Given the description of an element on the screen output the (x, y) to click on. 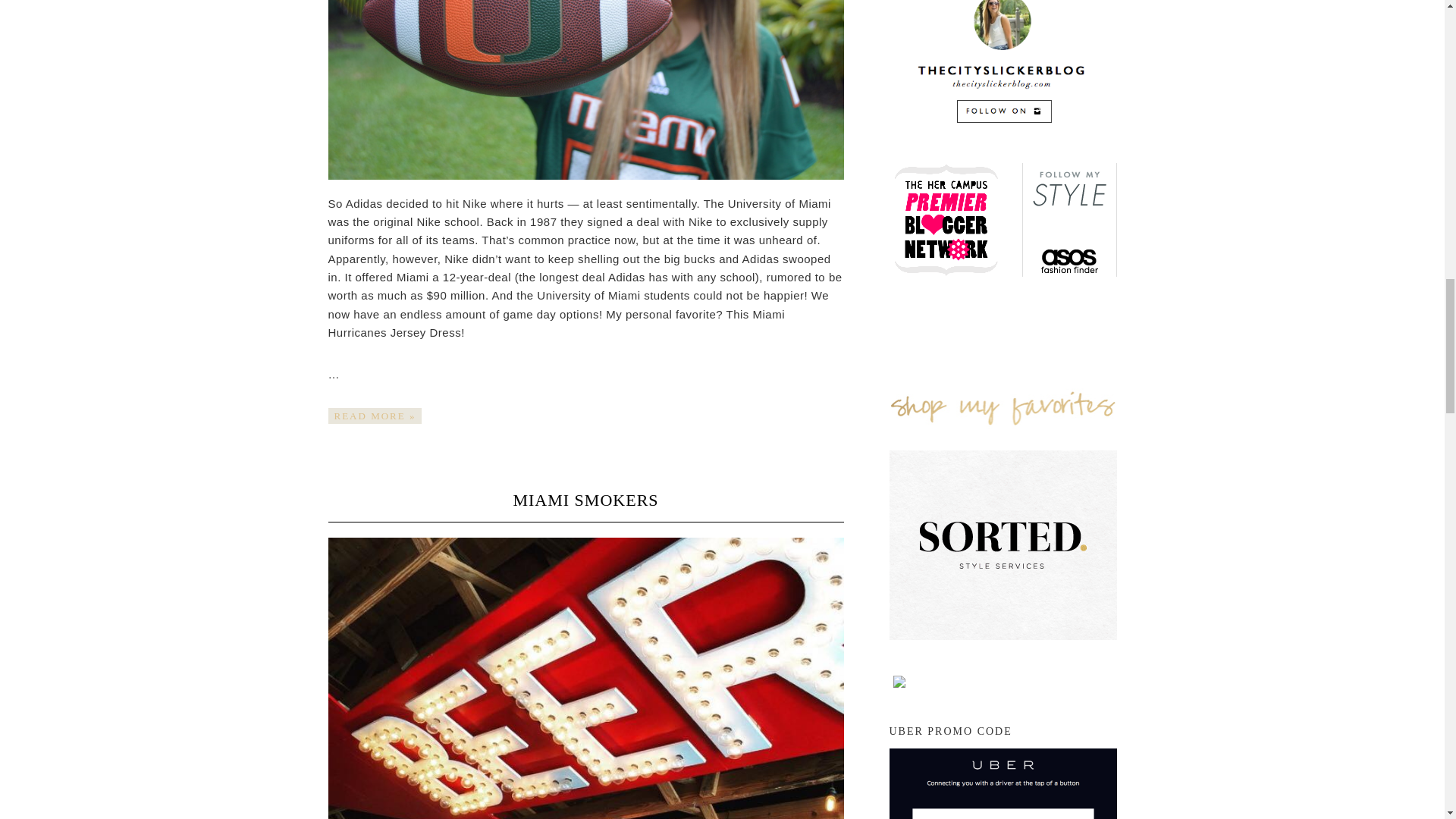
MIAMI SMOKERS (585, 499)
